Given the description of an element on the screen output the (x, y) to click on. 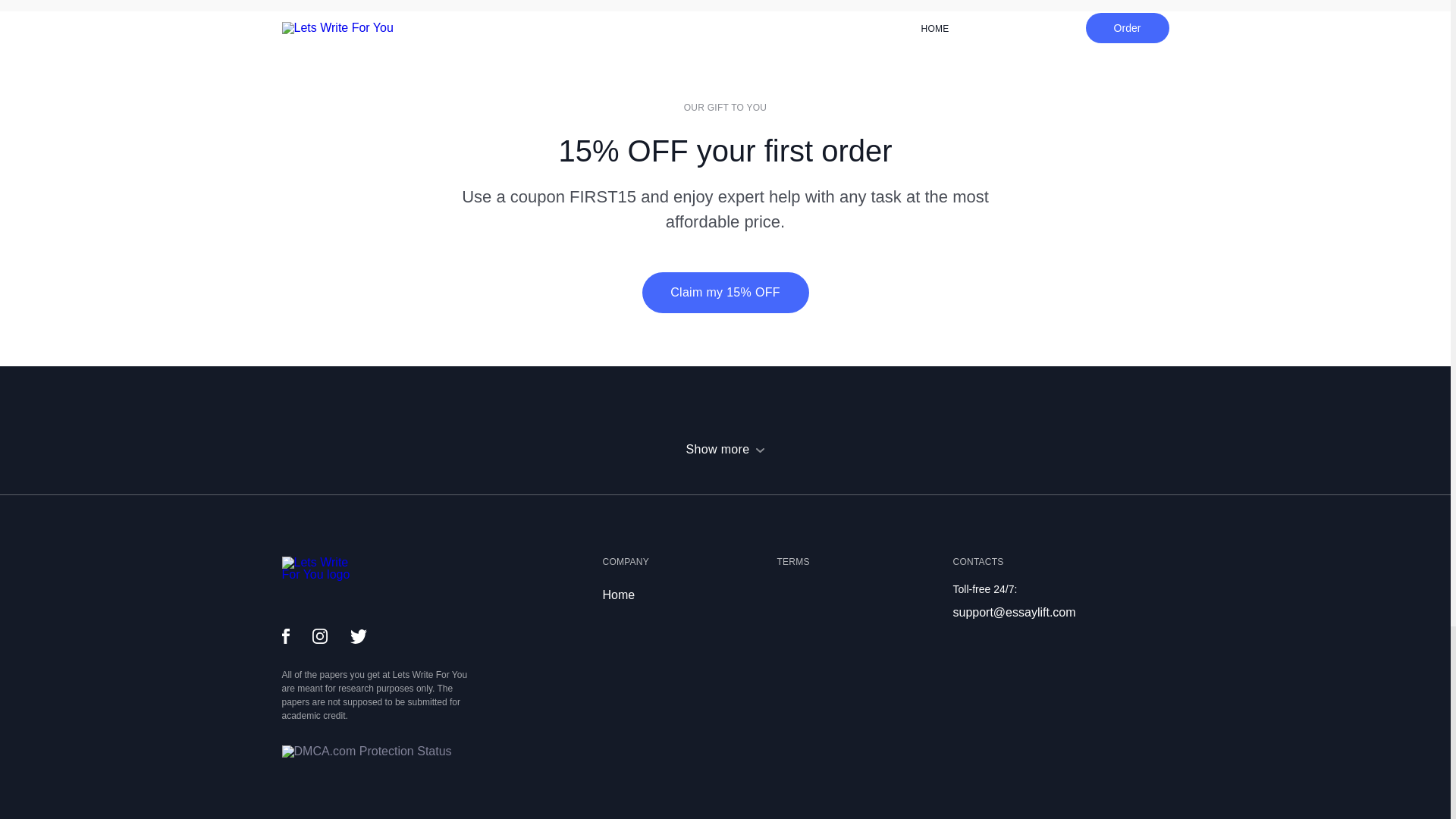
Home (618, 594)
Show more (725, 449)
